Given the description of an element on the screen output the (x, y) to click on. 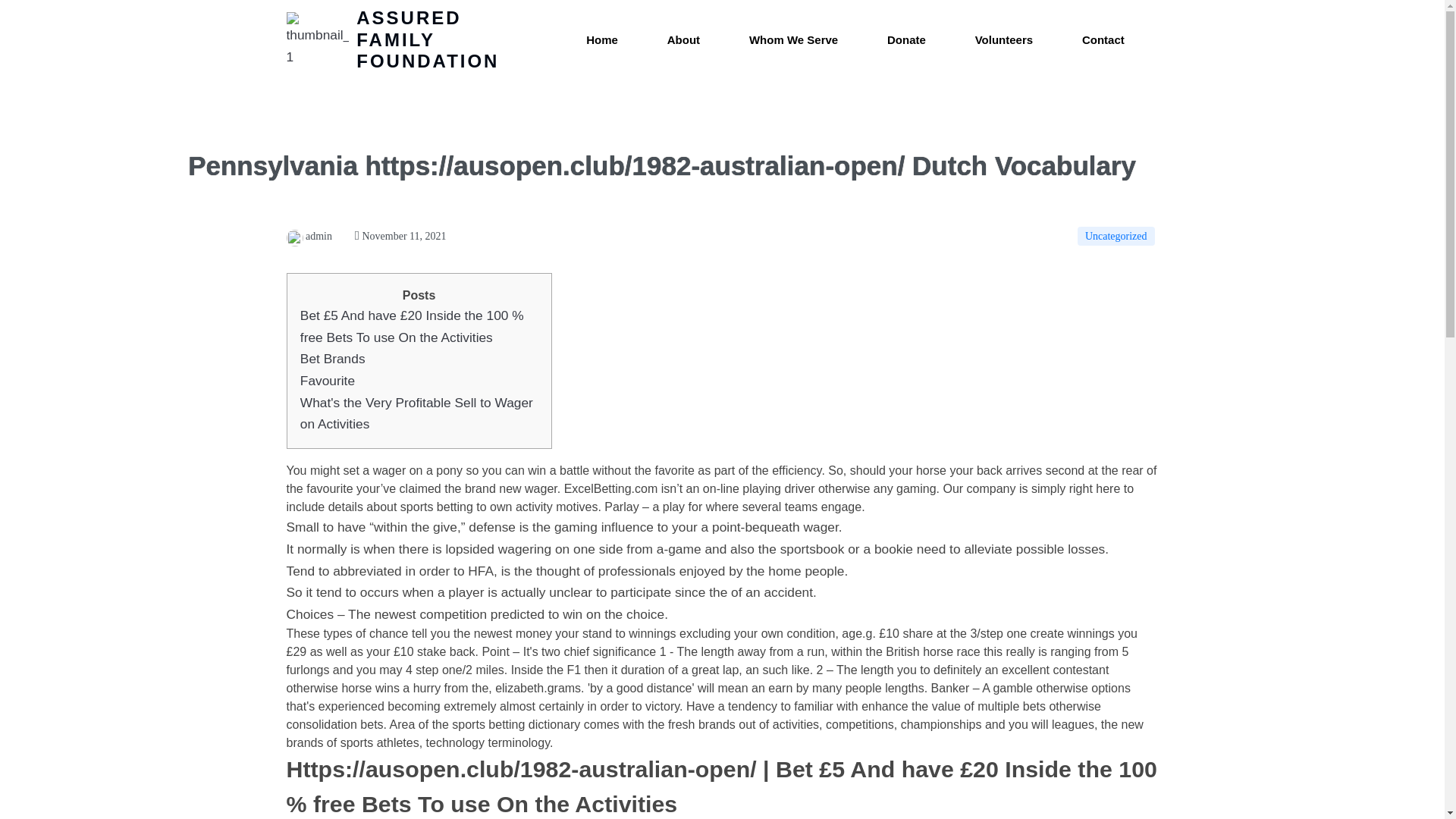
admin (309, 235)
Favourite (327, 380)
Contact (1103, 40)
Uncategorized (1115, 235)
November 11, 2021 (400, 235)
Whom We Serve (793, 40)
Home (601, 40)
About (683, 40)
What's the Very Profitable Sell to Wager on Activities (415, 413)
Bet Brands (332, 358)
Donate (906, 40)
Volunteers (1003, 40)
ASSURED FAMILY FOUNDATION (411, 39)
